Given the description of an element on the screen output the (x, y) to click on. 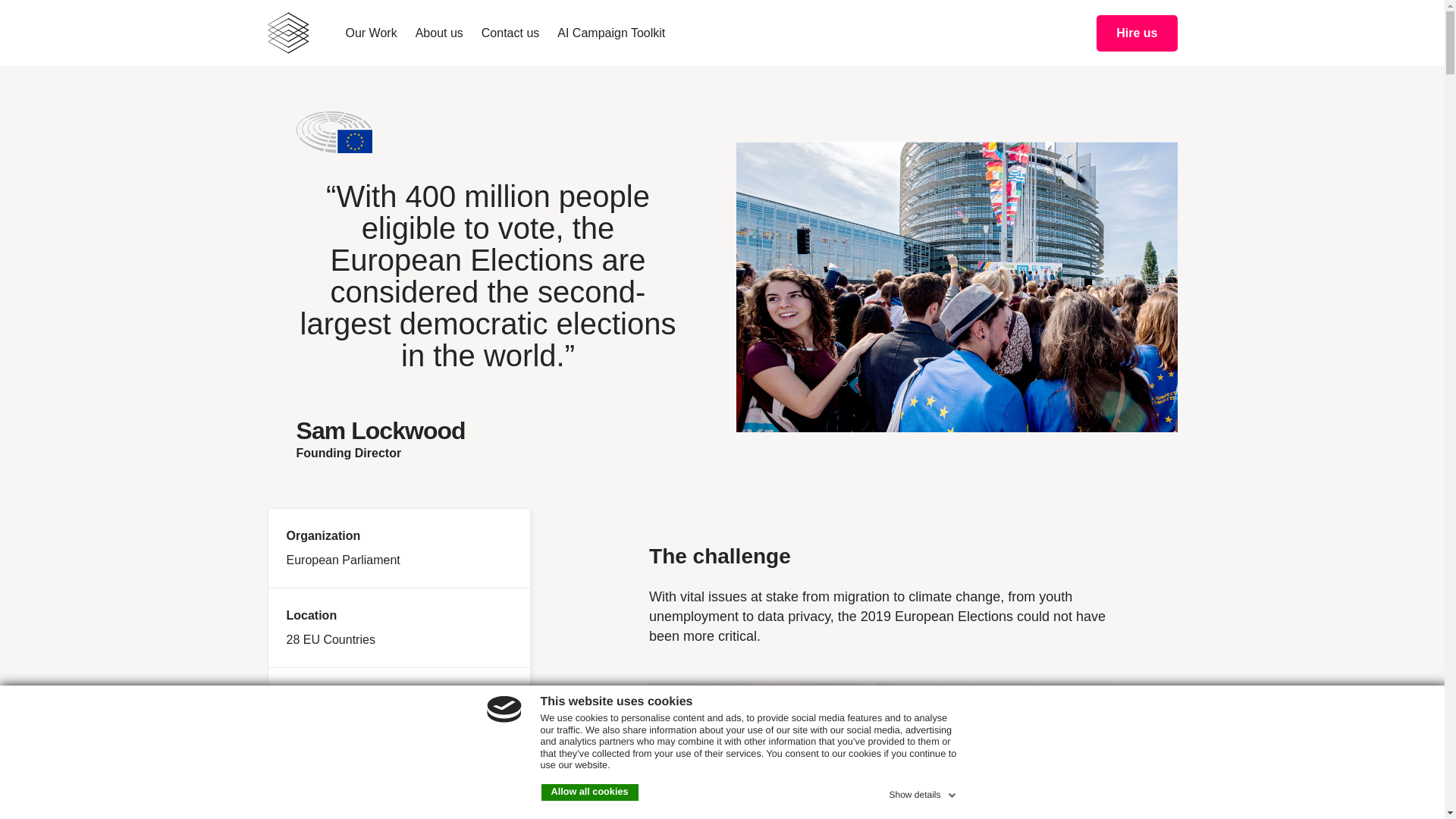
Allow all cookies Element type: text (589, 792)
Hire us Element type: text (1136, 33)
Our Work Element type: text (371, 33)
Contact us Element type: text (510, 33)
AI Campaign Toolkit Element type: text (611, 33)
Show details Element type: text (923, 792)
About us Element type: text (439, 33)
